Given the description of an element on the screen output the (x, y) to click on. 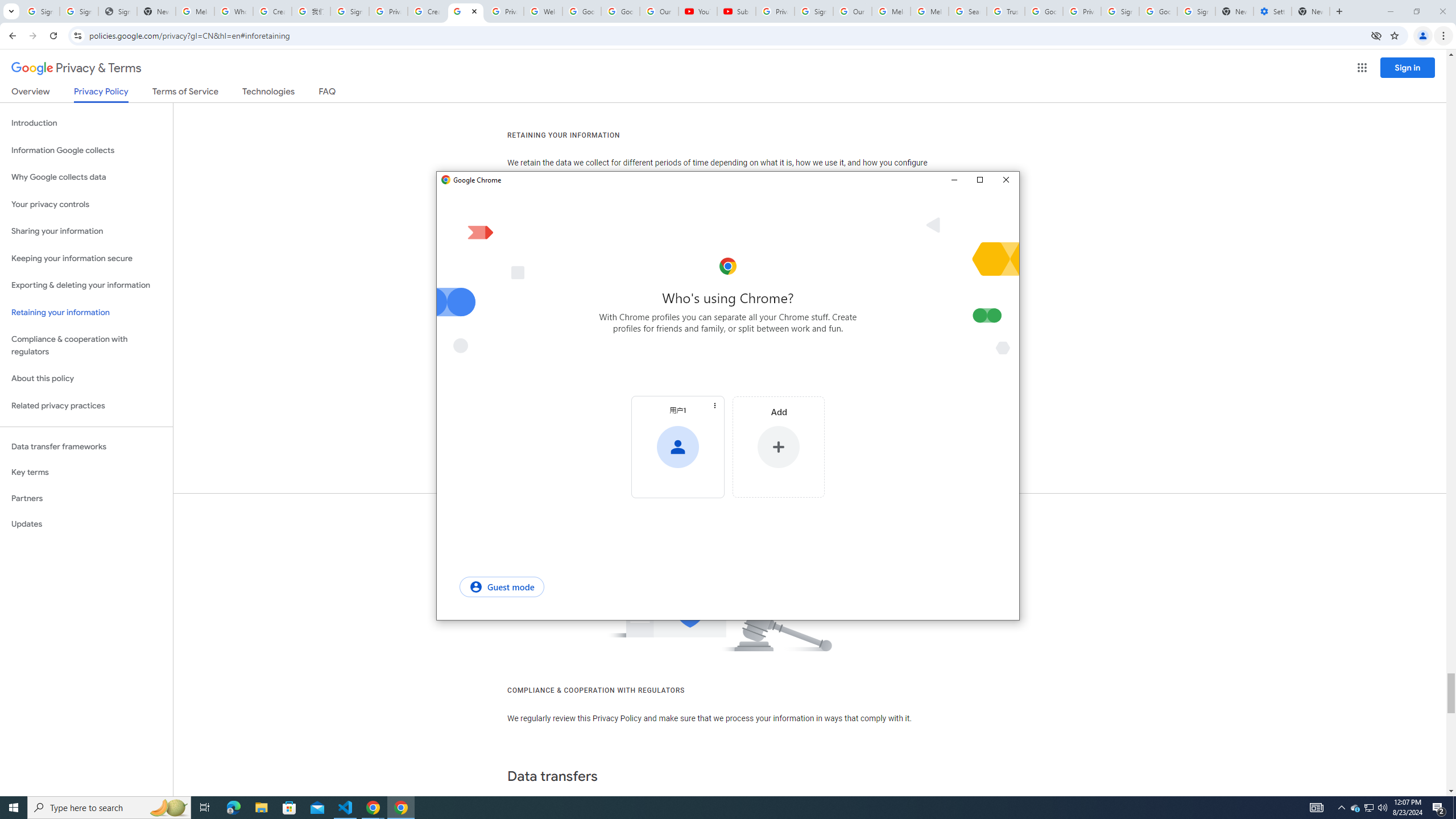
Google Cybersecurity Innovations - Google Safety Center (1158, 11)
Settings - Addresses and more (1272, 11)
